Given the description of an element on the screen output the (x, y) to click on. 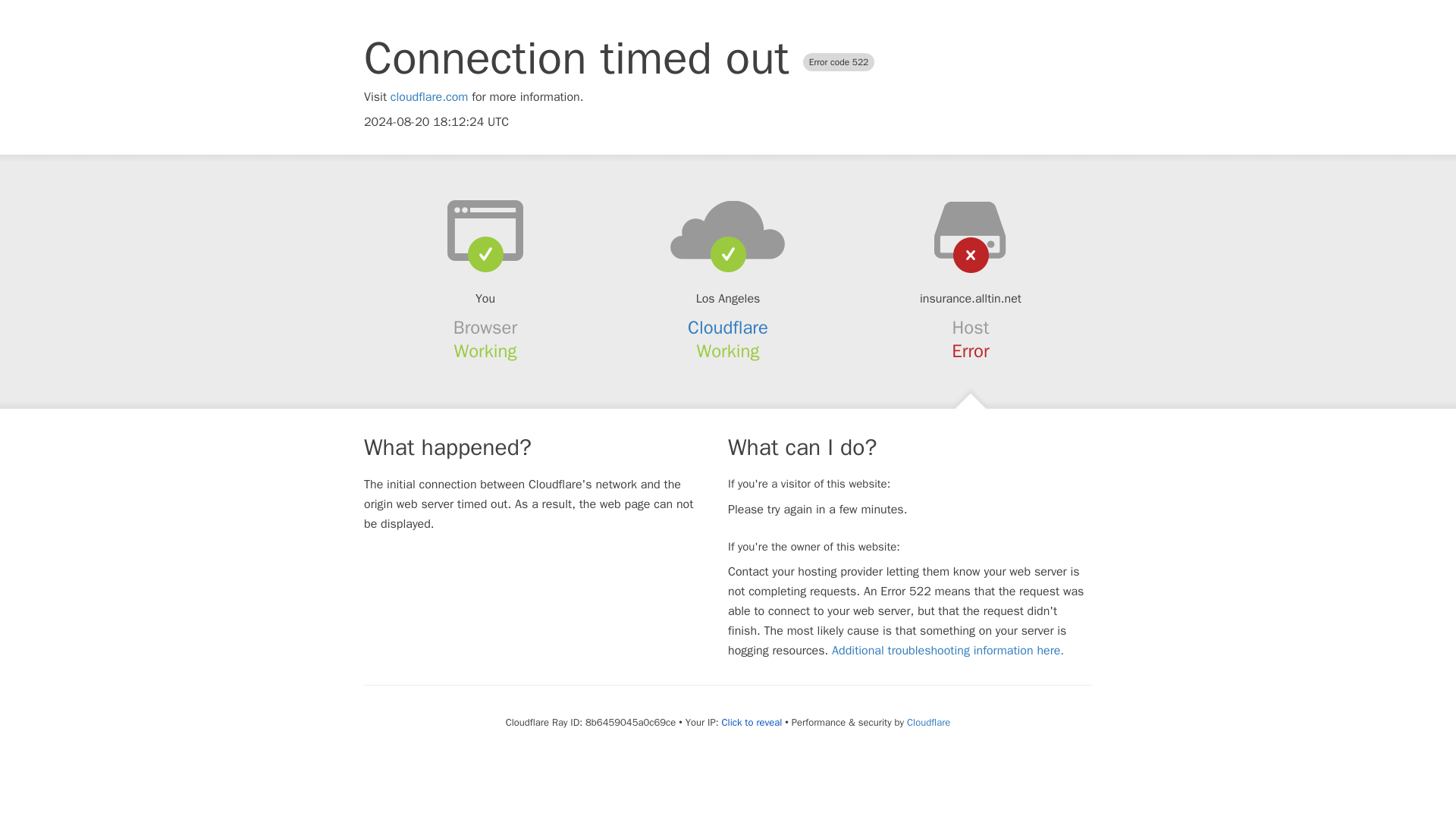
Click to reveal (750, 722)
Cloudflare (928, 721)
Additional troubleshooting information here. (947, 650)
cloudflare.com (429, 96)
Cloudflare (727, 327)
